Given the description of an element on the screen output the (x, y) to click on. 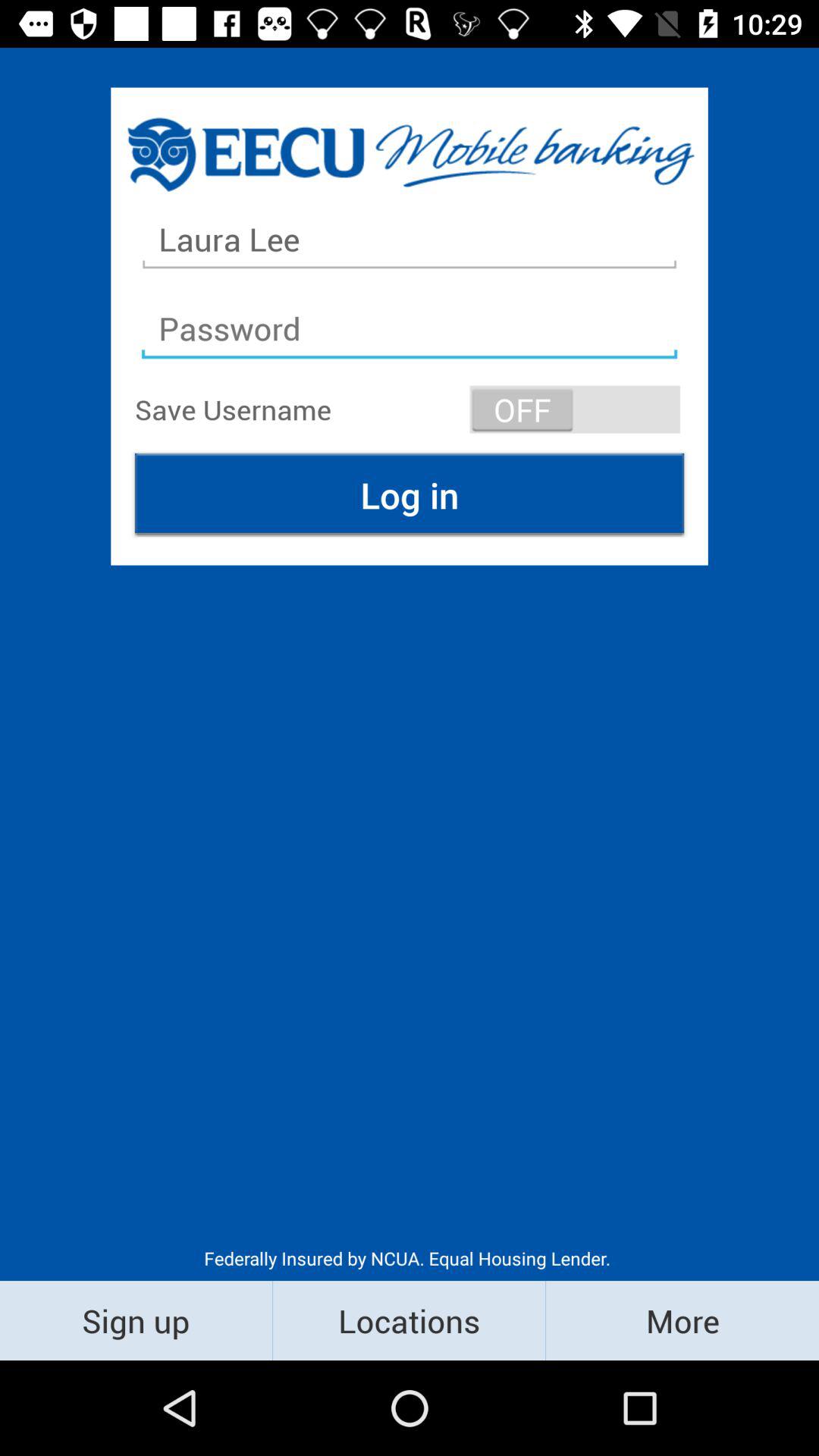
open more at the bottom right corner (682, 1320)
